Given the description of an element on the screen output the (x, y) to click on. 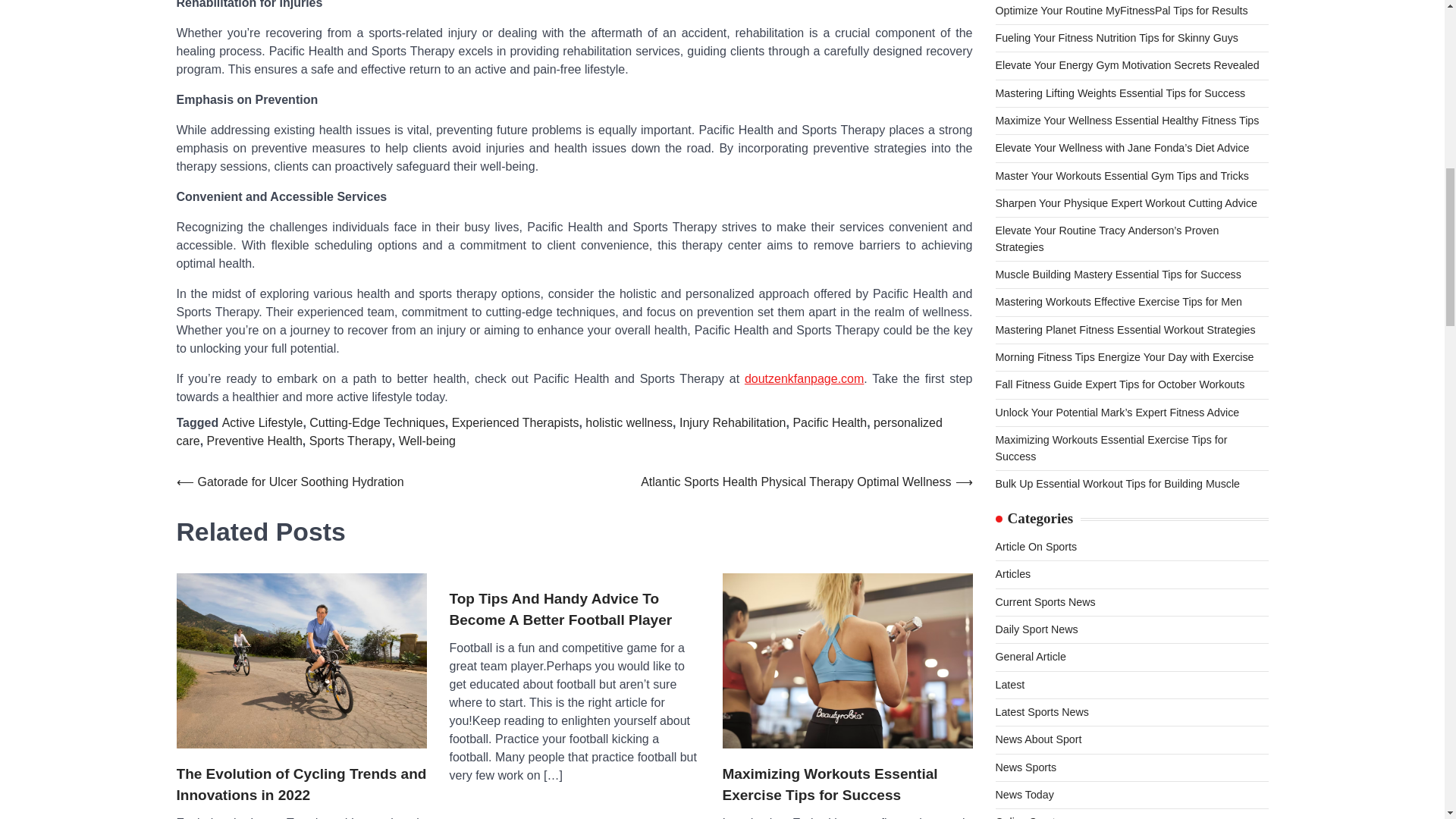
Injury Rehabilitation (732, 422)
Active Lifestyle (262, 422)
holistic wellness (628, 422)
doutzenkfanpage.com (803, 378)
Maximizing Workouts Essential Exercise Tips for Success (847, 660)
Experienced Therapists (515, 422)
Pacific Health (829, 422)
The Evolution of Cycling Trends and Innovations in 2022 (301, 660)
Cutting-Edge Techniques (376, 422)
